Given the description of an element on the screen output the (x, y) to click on. 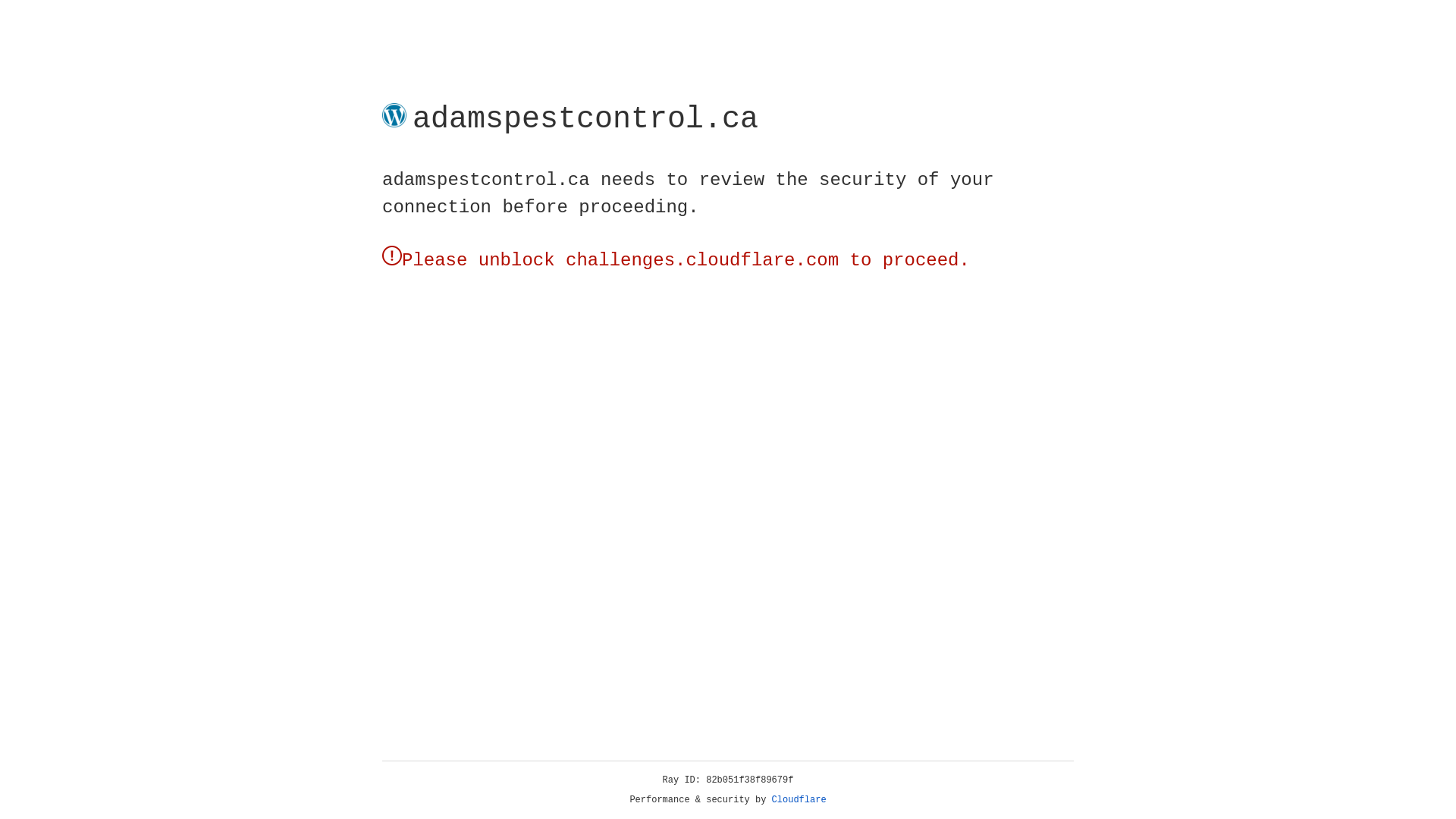
Cloudflare Element type: text (798, 799)
